Given the description of an element on the screen output the (x, y) to click on. 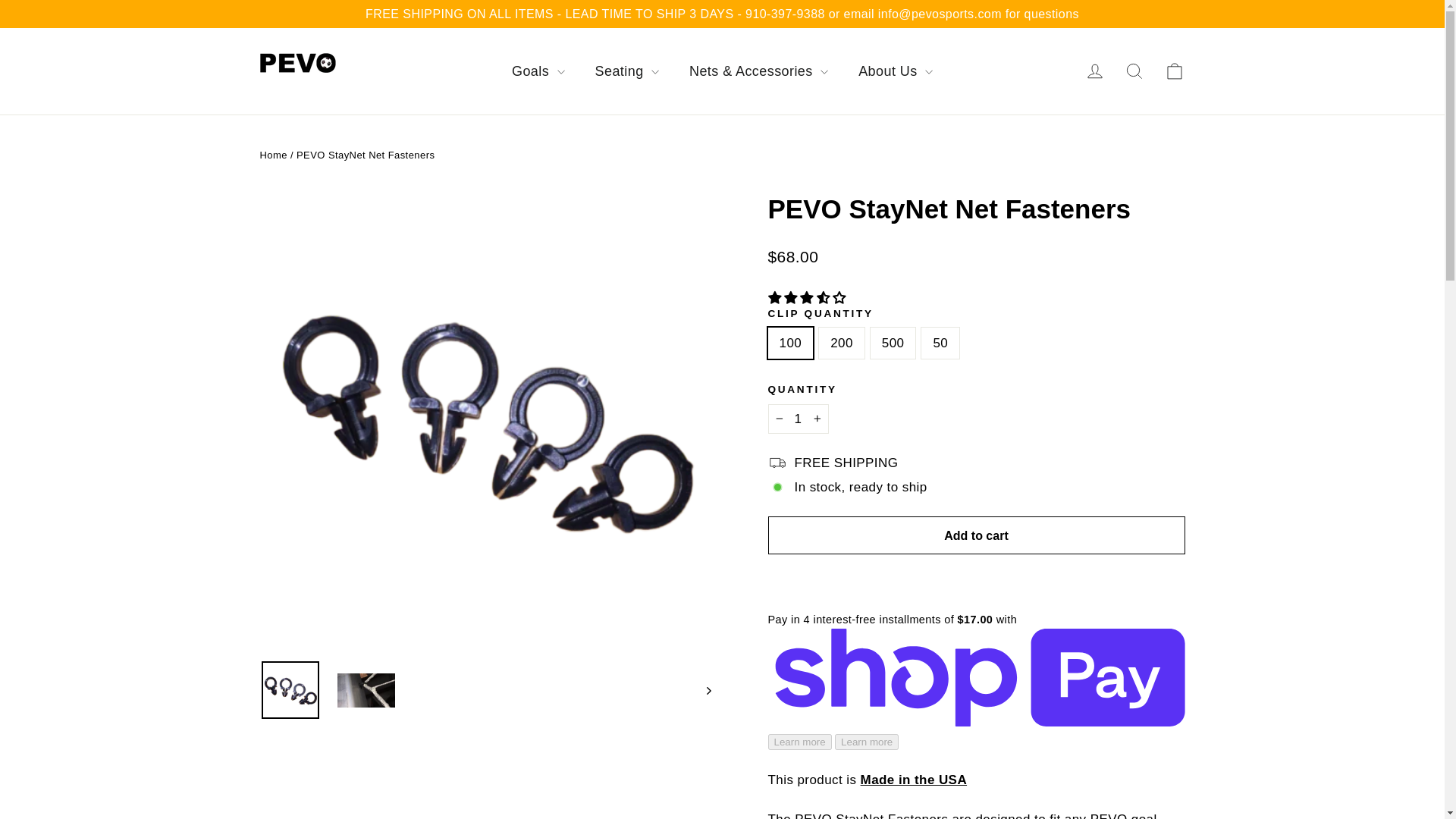
account (1094, 70)
icon-search (1134, 70)
icon-bag-minimal (1174, 70)
1 (797, 419)
Back to the frontpage (272, 154)
